Given the description of an element on the screen output the (x, y) to click on. 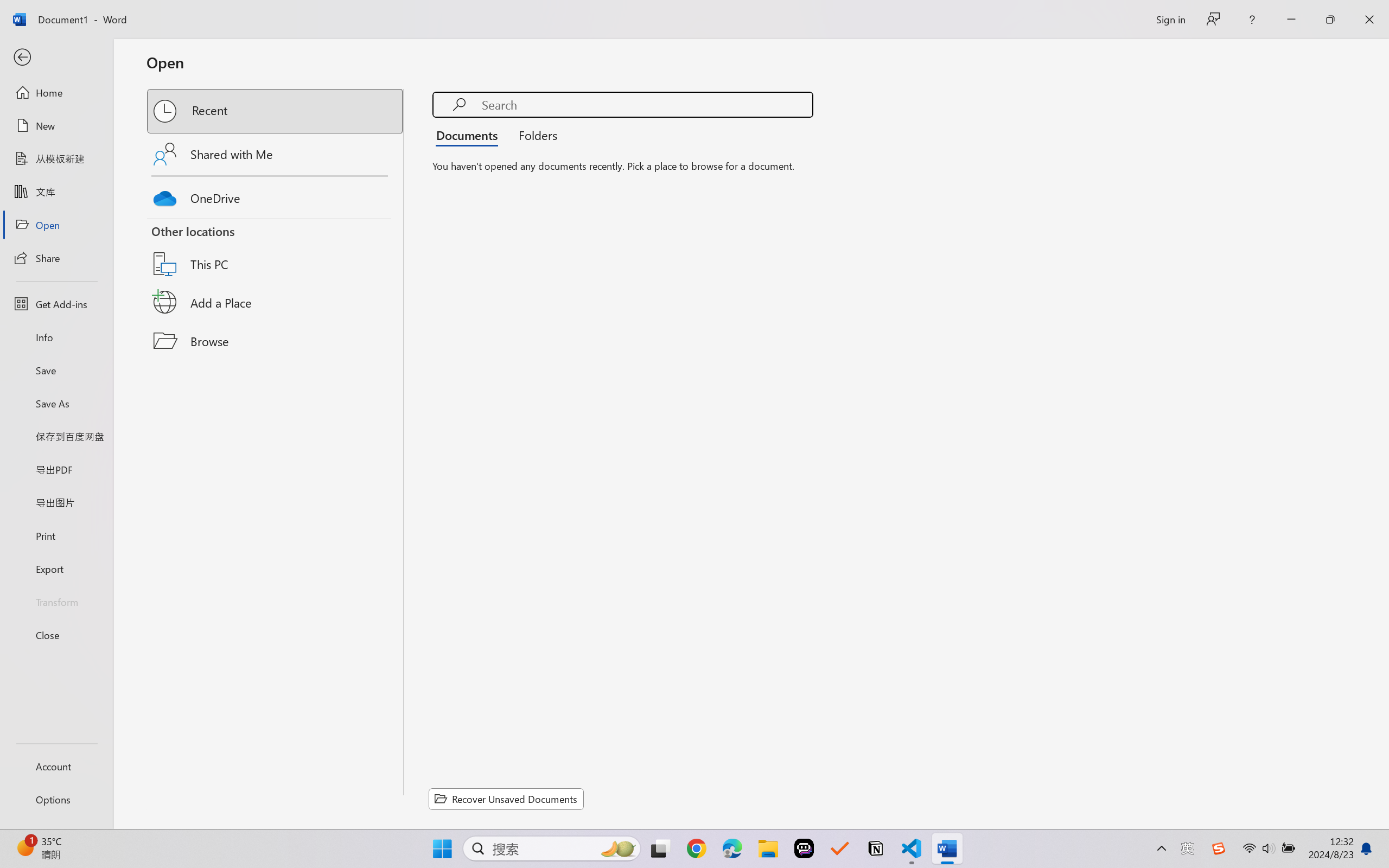
Account (56, 765)
OneDrive (275, 195)
Documents (469, 134)
Recover Unsaved Documents (506, 798)
Transform (56, 601)
Add a Place (275, 302)
This PC (275, 249)
